Given the description of an element on the screen output the (x, y) to click on. 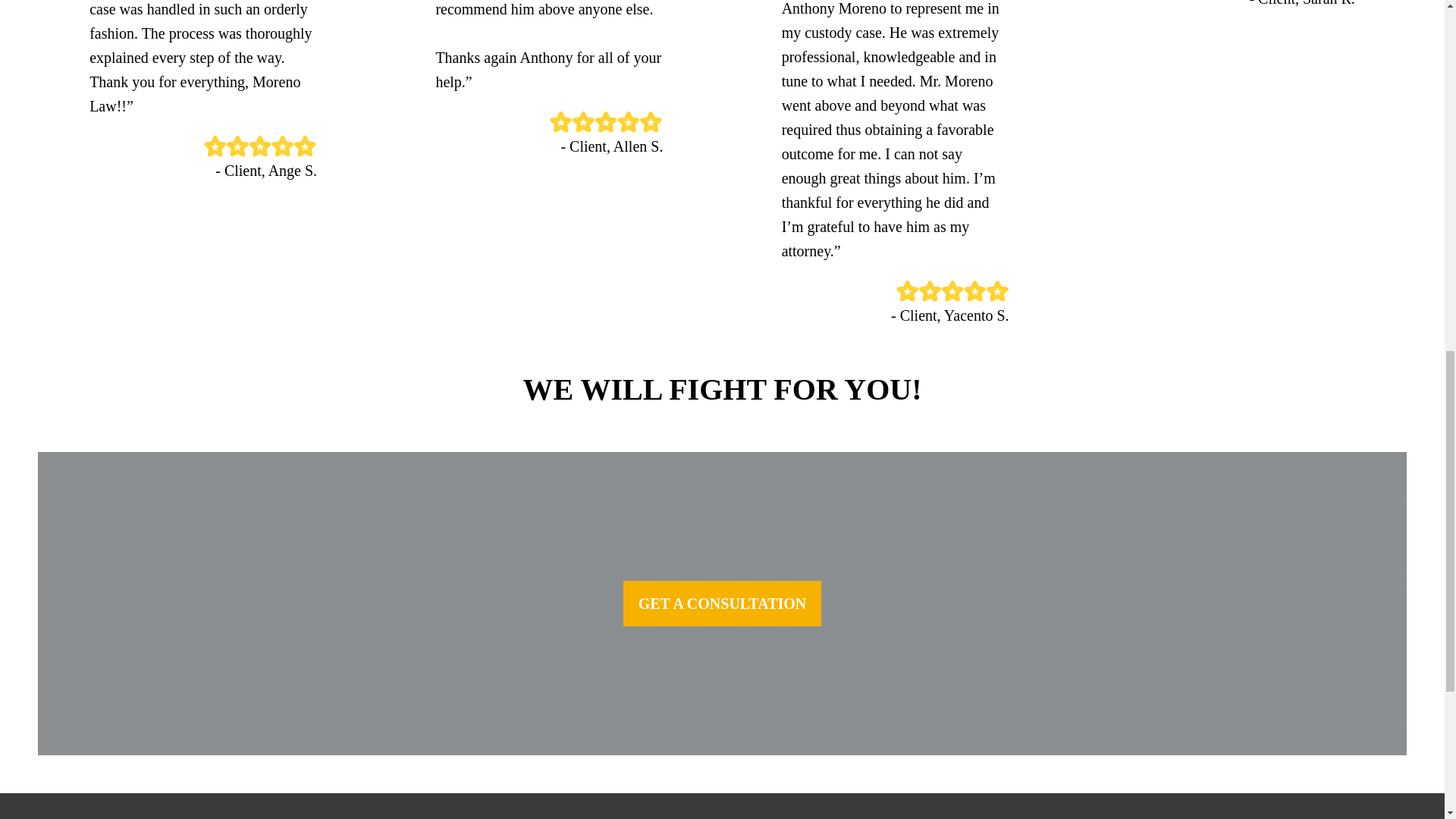
GET A CONSULTATION (722, 603)
